Given the description of an element on the screen output the (x, y) to click on. 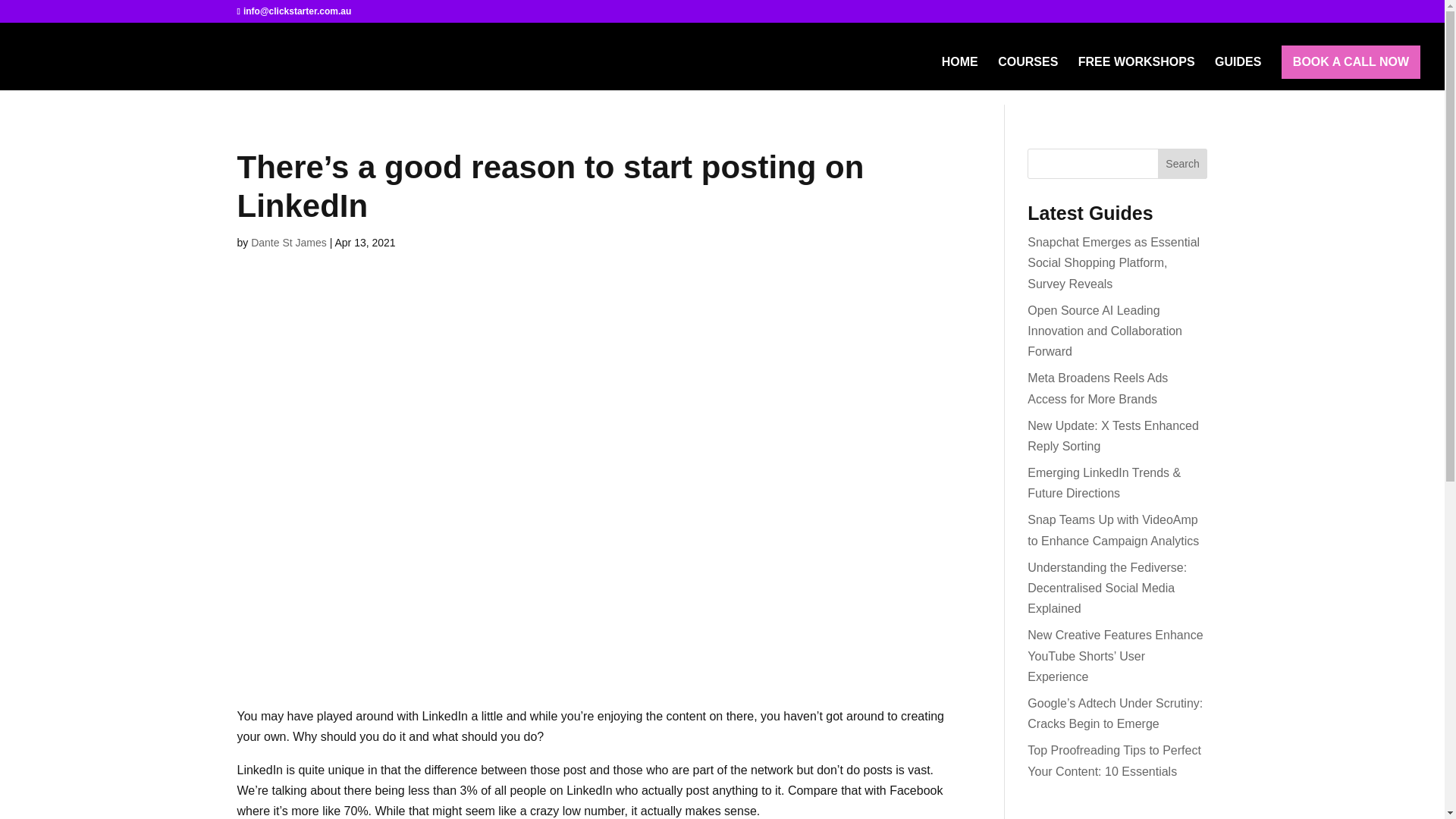
GUIDES (1237, 73)
Dante St James (288, 242)
BOOK A CALL NOW (1351, 61)
Open Source AI Leading Innovation and Collaboration Forward (1104, 330)
Top Proofreading Tips to Perfect Your Content: 10 Essentials (1114, 760)
Meta Broadens Reels Ads Access for More Brands (1097, 387)
Snap Teams Up with VideoAmp to Enhance Campaign Analytics (1112, 530)
New Update: X Tests Enhanced Reply Sorting (1112, 435)
Posts by Dante St James (288, 242)
FREE WORKSHOPS (1136, 73)
